Given the description of an element on the screen output the (x, y) to click on. 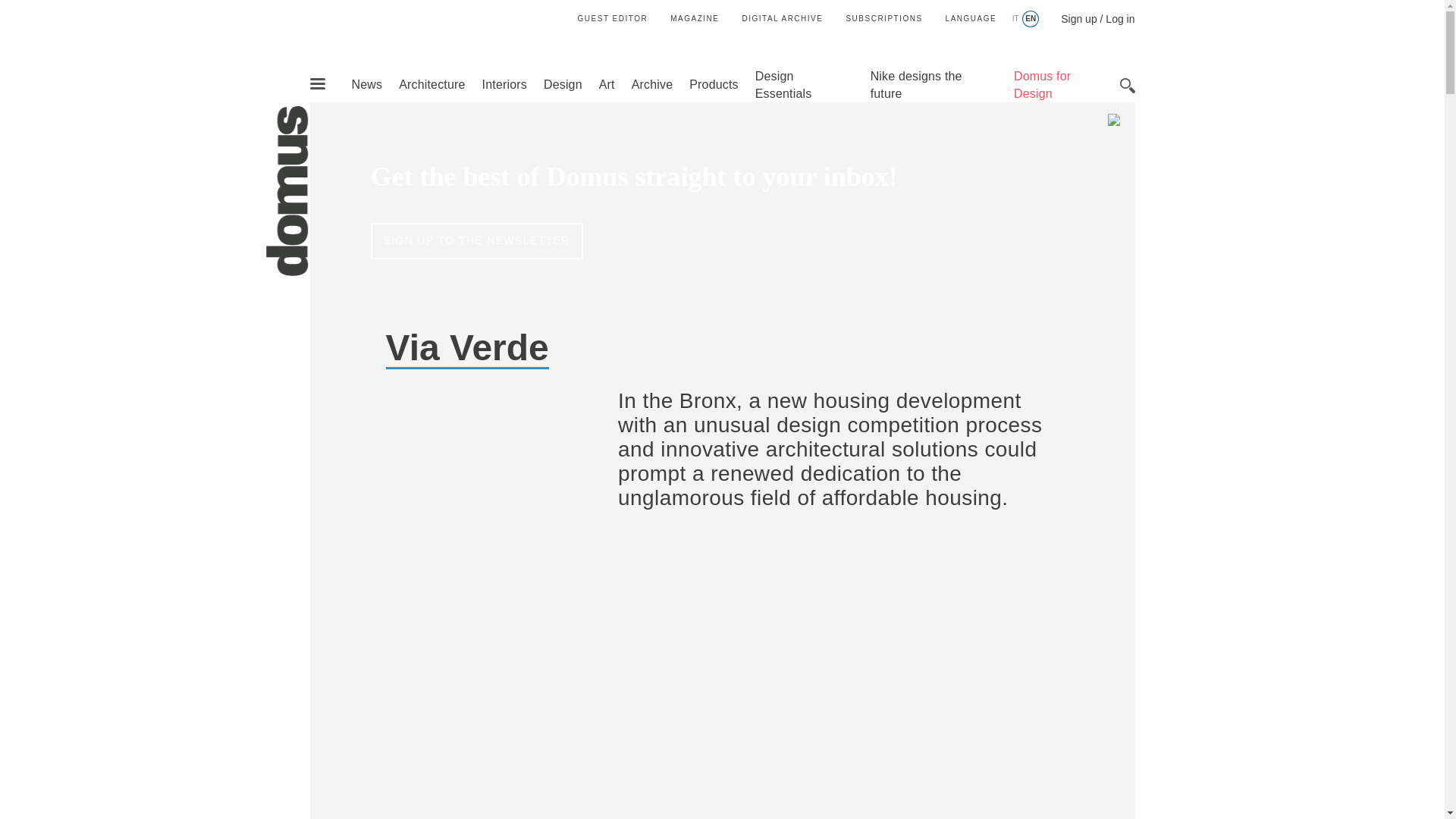
Domus for Design (1041, 84)
Design (562, 83)
GUEST EDITOR (612, 18)
Design Essentials (783, 84)
Art (606, 83)
Architecture (431, 83)
MAGAZINE (694, 18)
IT (1015, 18)
Log in (1119, 19)
SUBSCRIPTIONS (883, 18)
EN (1030, 18)
Products (713, 83)
Interiors (504, 83)
News (365, 83)
Nike designs the future (916, 84)
